Given the description of an element on the screen output the (x, y) to click on. 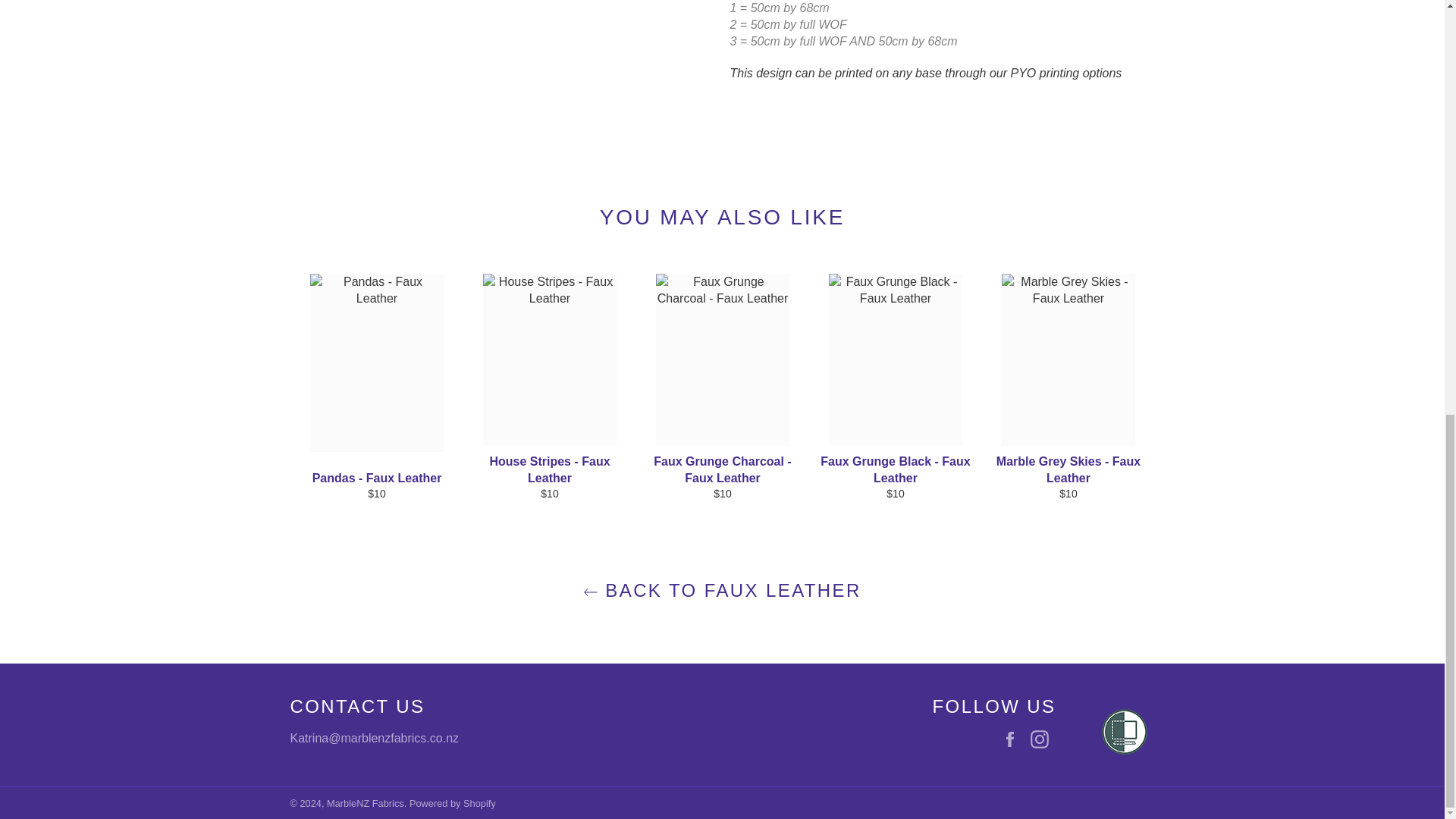
MarbleNZ Fabrics on Instagram (1042, 739)
MarbleNZ Fabrics on Facebook (1013, 739)
